Given the description of an element on the screen output the (x, y) to click on. 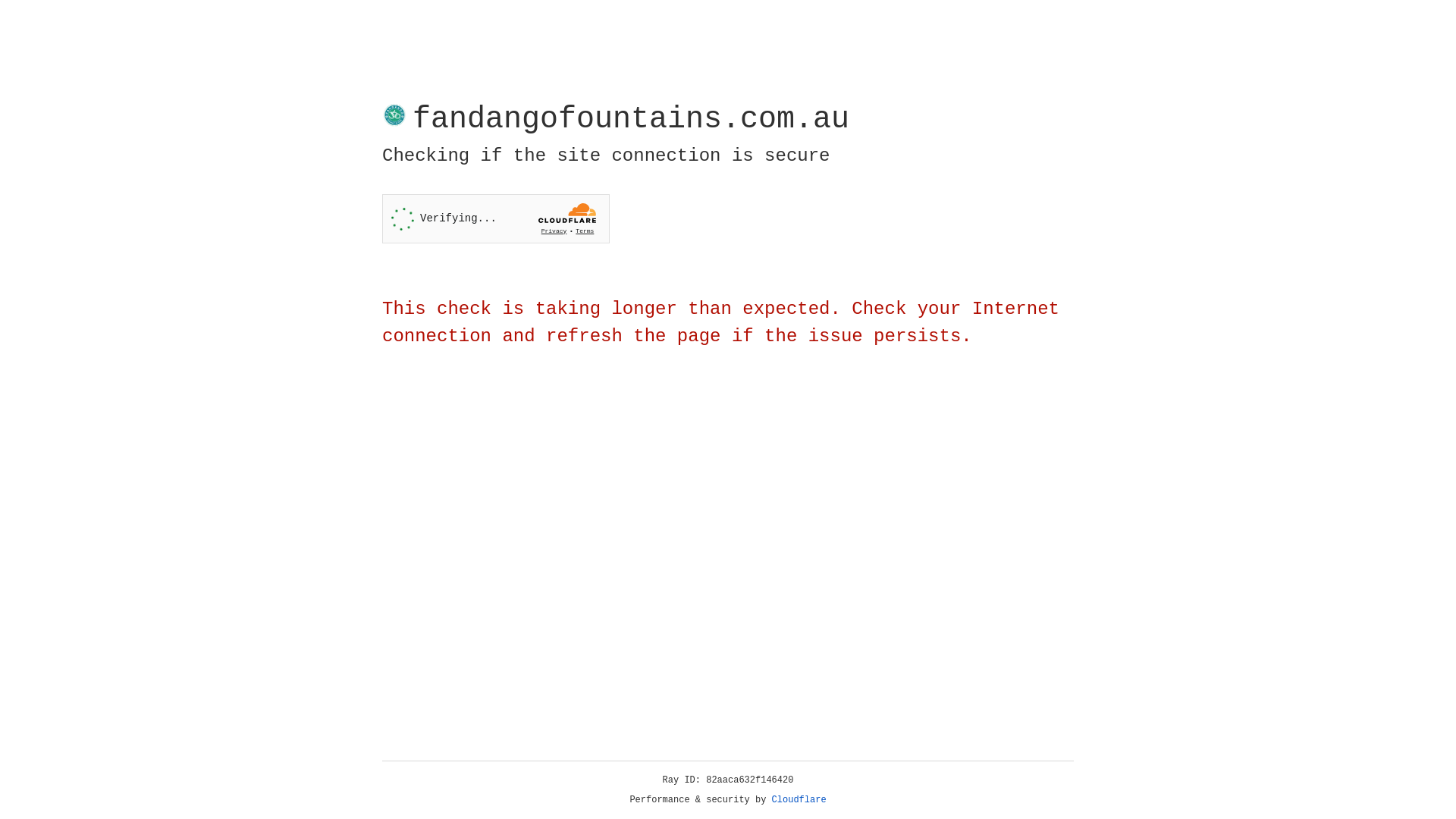
Widget containing a Cloudflare security challenge Element type: hover (495, 218)
Cloudflare Element type: text (798, 799)
